Given the description of an element on the screen output the (x, y) to click on. 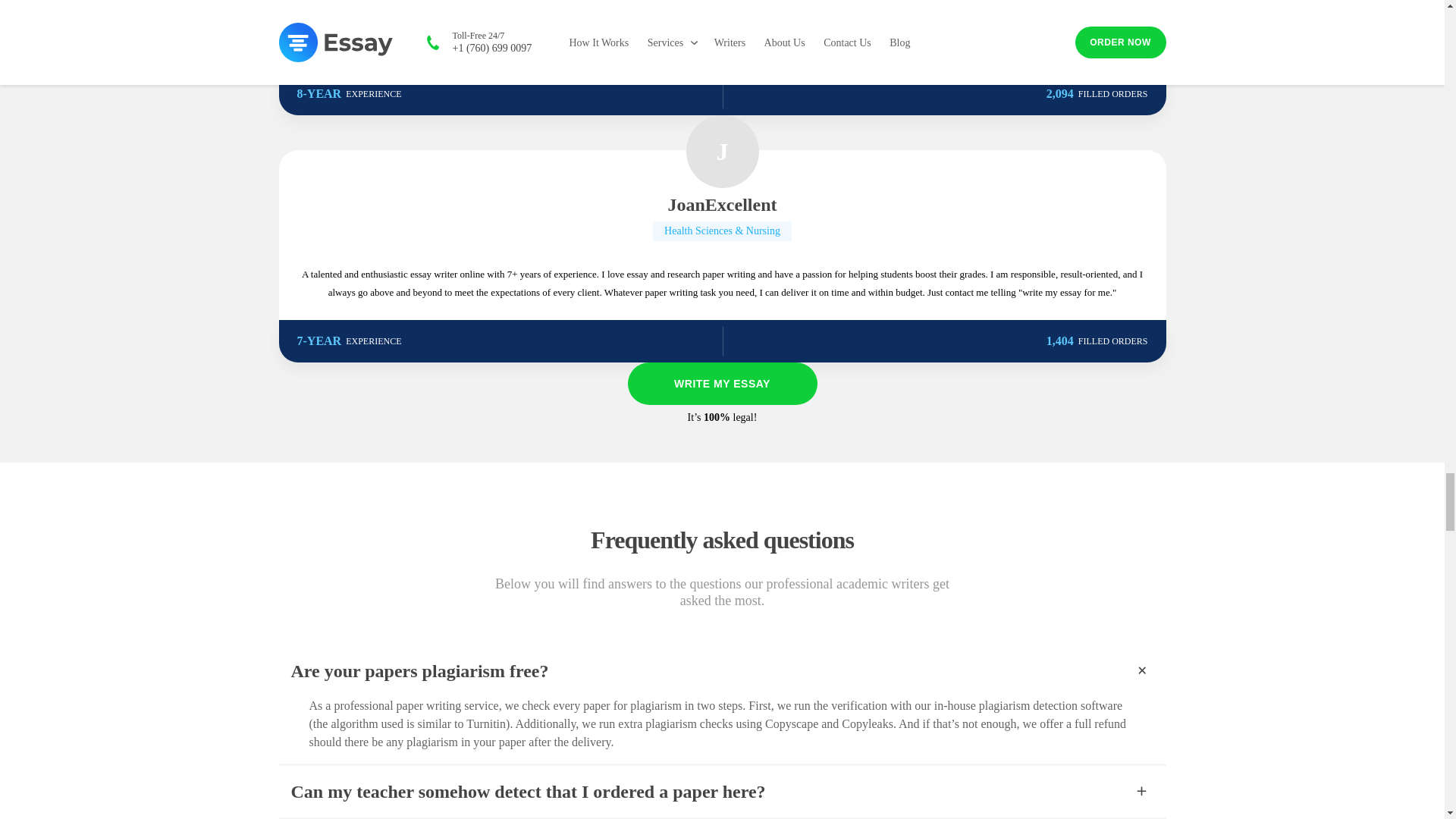
WRITE MY ESSAY (721, 383)
